Given the description of an element on the screen output the (x, y) to click on. 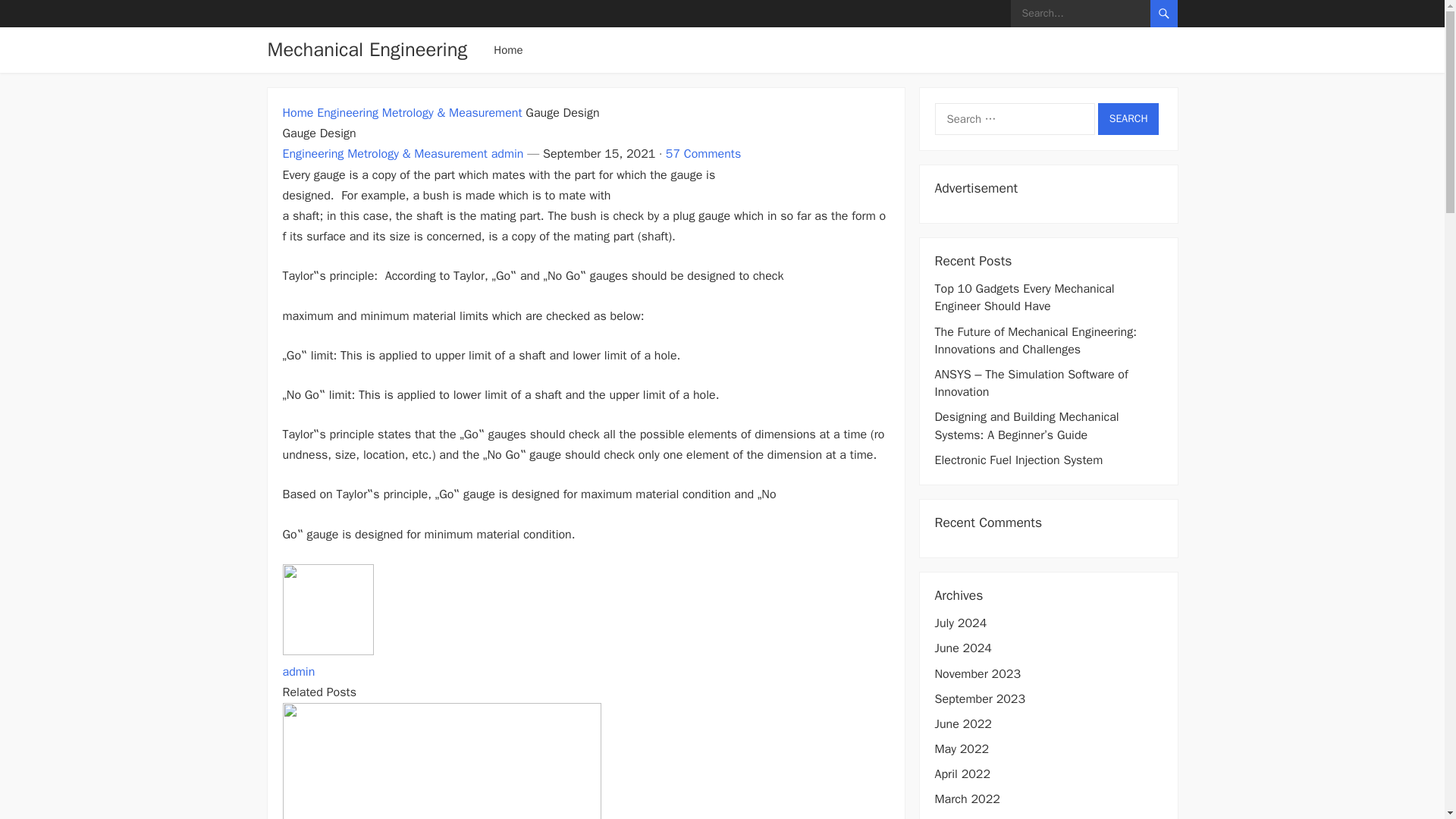
57 Comments (703, 153)
Home (297, 112)
May 2022 (961, 749)
admin (298, 671)
June 2022 (962, 724)
Posts by admin (508, 153)
Search (1127, 119)
Search (1127, 119)
June 2024 (962, 648)
Electronic Fuel Injection System (1018, 459)
